Given the description of an element on the screen output the (x, y) to click on. 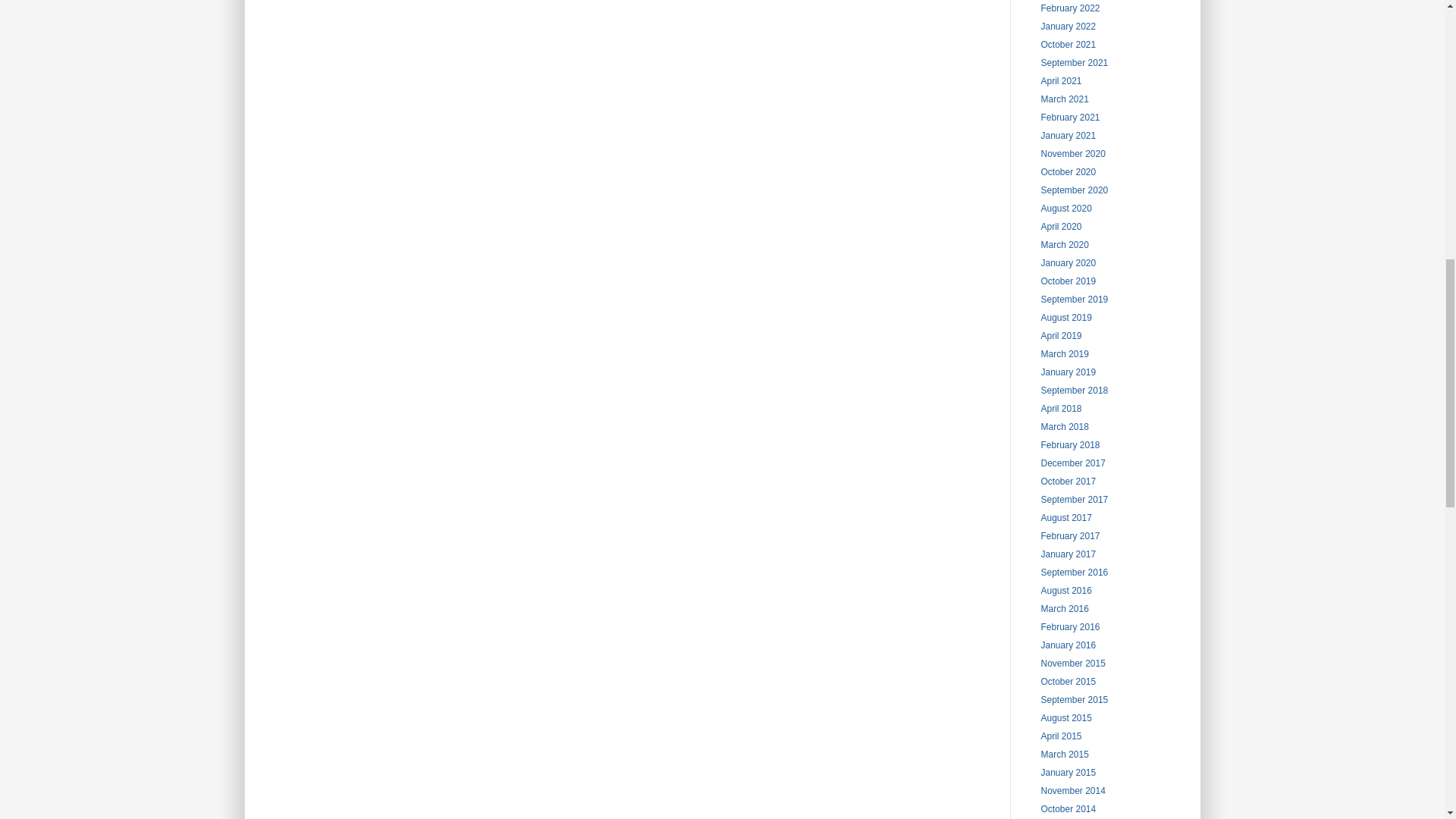
September 2021 (1074, 62)
February 2021 (1070, 117)
January 2021 (1068, 135)
October 2020 (1068, 172)
January 2022 (1068, 26)
November 2020 (1073, 153)
September 2020 (1074, 190)
August 2020 (1065, 208)
March 2021 (1064, 99)
April 2021 (1061, 81)
February 2022 (1070, 8)
October 2021 (1068, 44)
